Given the description of an element on the screen output the (x, y) to click on. 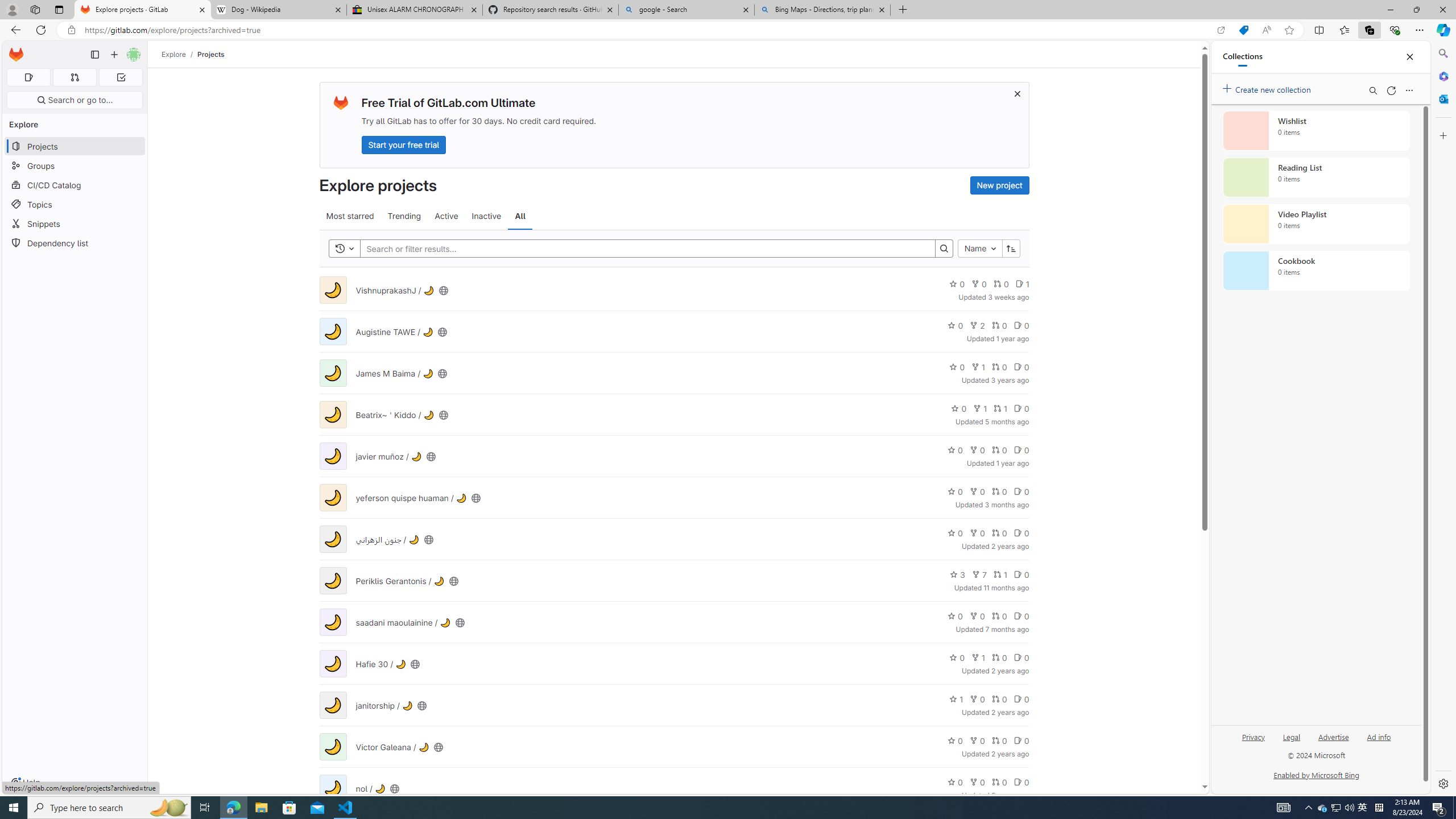
Topics (74, 203)
All (520, 216)
Class: s16 (395, 788)
Inactive (486, 216)
Groups (74, 165)
CI/CD Catalog (74, 185)
